Given the description of an element on the screen output the (x, y) to click on. 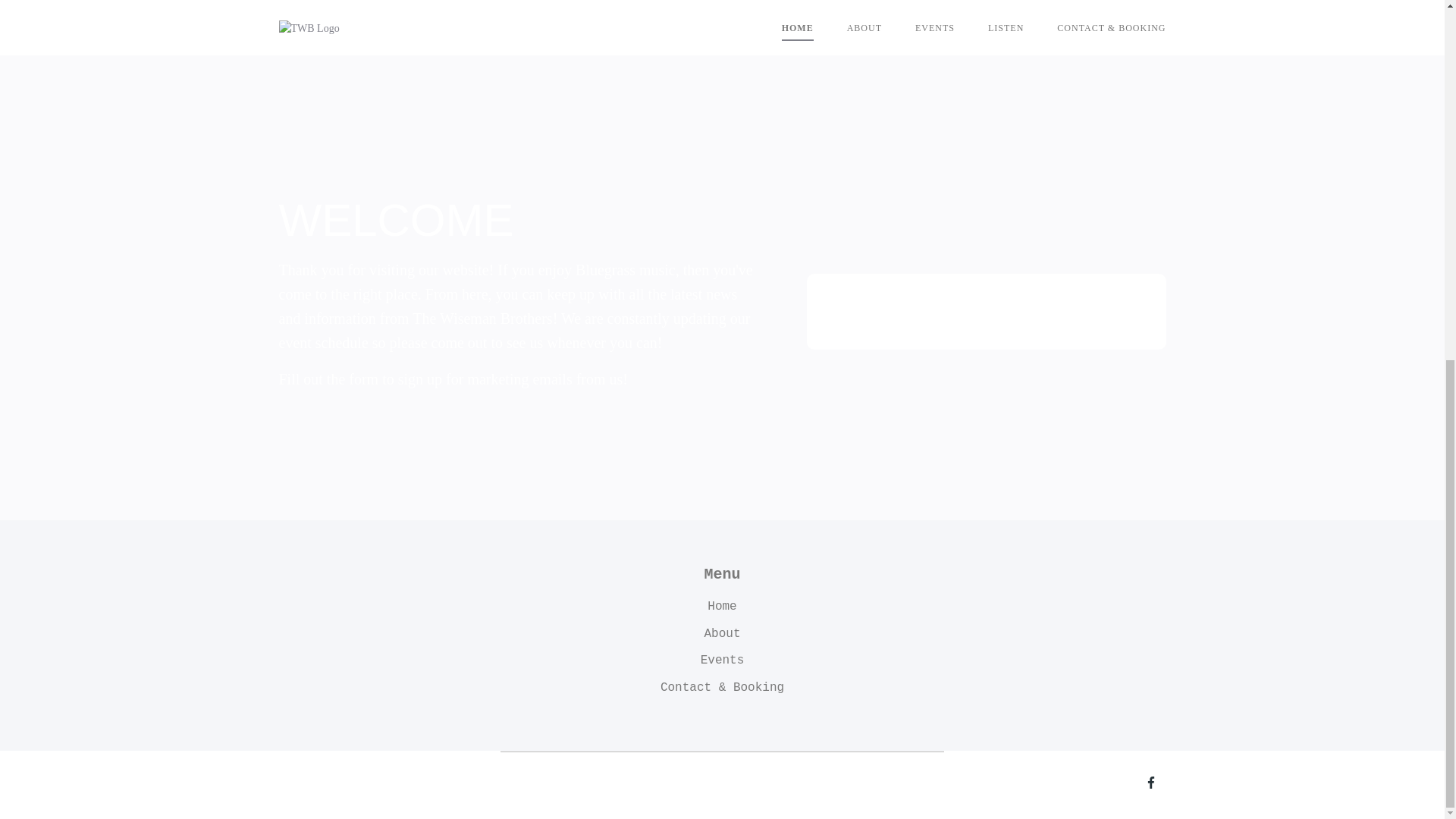
Events (722, 660)
Home (721, 606)
About (721, 634)
